Given the description of an element on the screen output the (x, y) to click on. 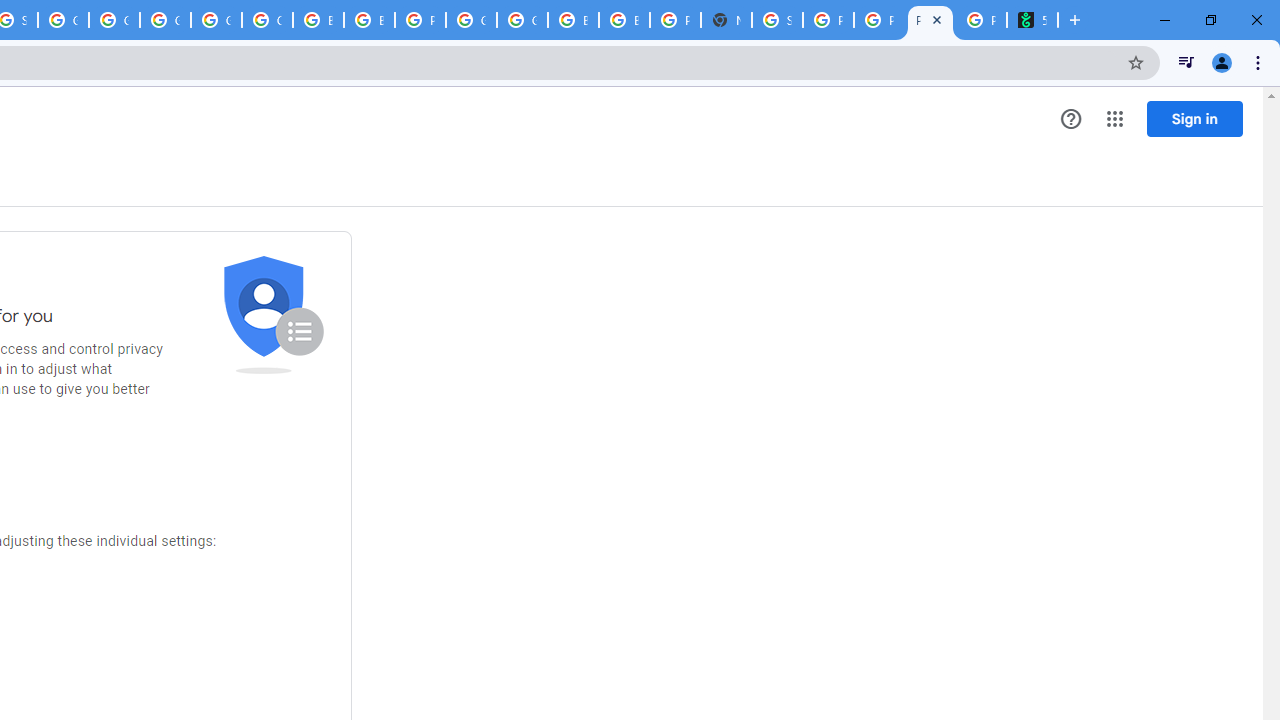
Google Cloud Platform (470, 20)
Privacy Checkup (930, 20)
Sign in - Google Accounts (776, 20)
Browse Chrome as a guest - Computer - Google Chrome Help (318, 20)
Browse Chrome as a guest - Computer - Google Chrome Help (573, 20)
Browse Chrome as a guest - Computer - Google Chrome Help (624, 20)
Browse Chrome as a guest - Computer - Google Chrome Help (369, 20)
Privacy Checkup (878, 20)
